Given the description of an element on the screen output the (x, y) to click on. 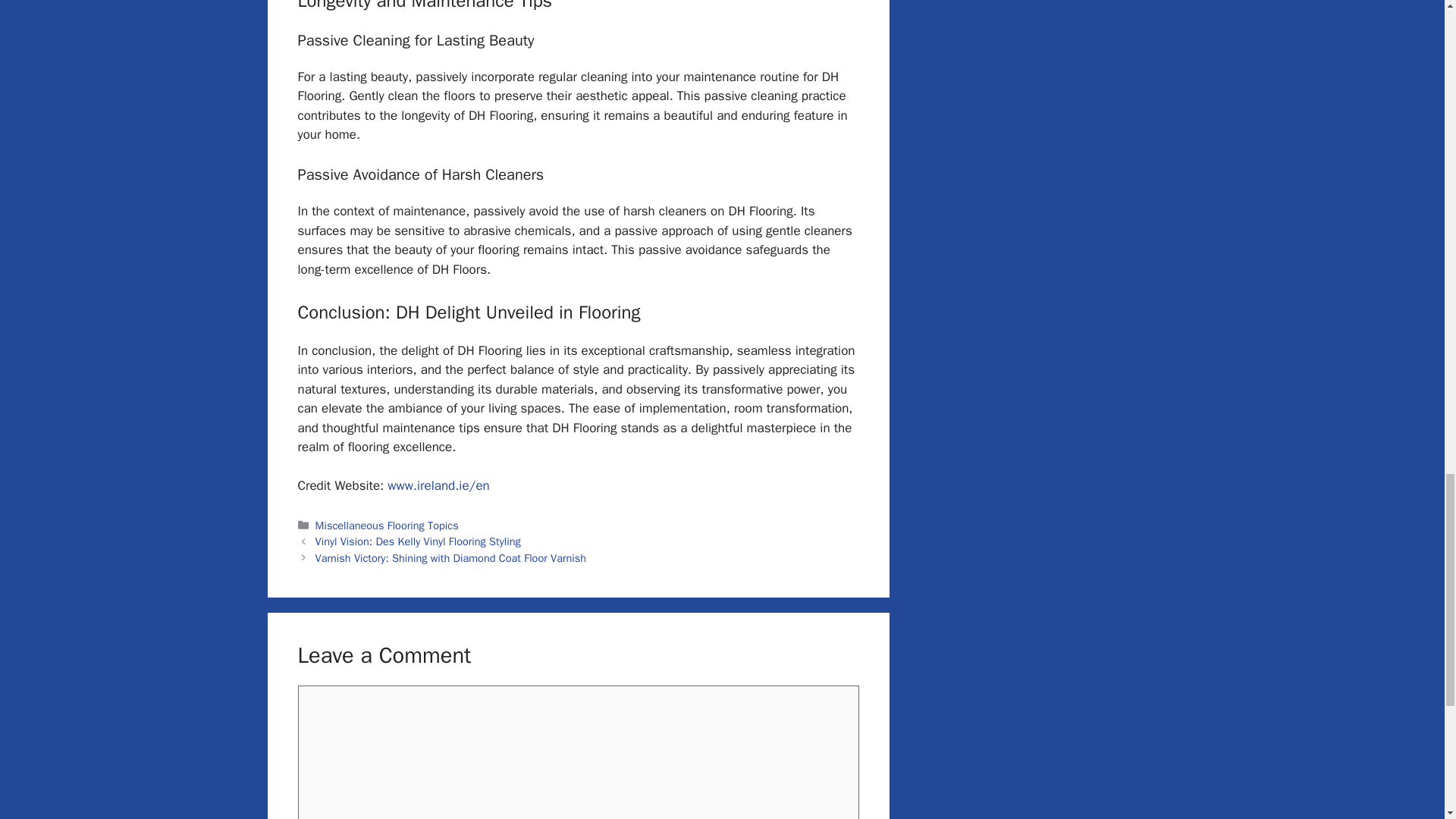
Varnish Victory: Shining with Diamond Coat Floor Varnish (450, 558)
Vinyl Vision: Des Kelly Vinyl Flooring Styling (418, 540)
Miscellaneous Flooring Topics (386, 525)
